Given the description of an element on the screen output the (x, y) to click on. 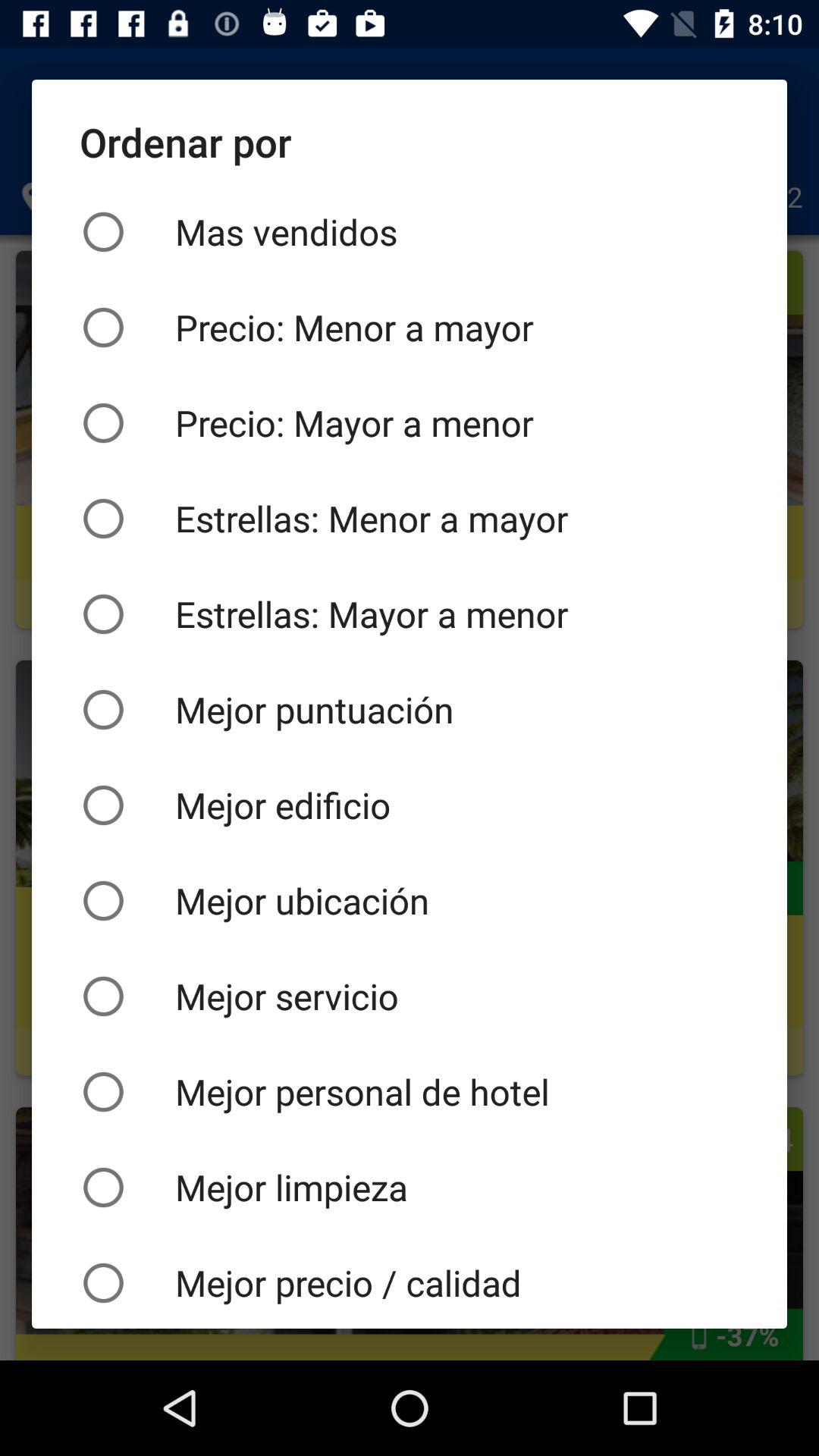
launch icon below the mejor limpieza item (409, 1281)
